Given the description of an element on the screen output the (x, y) to click on. 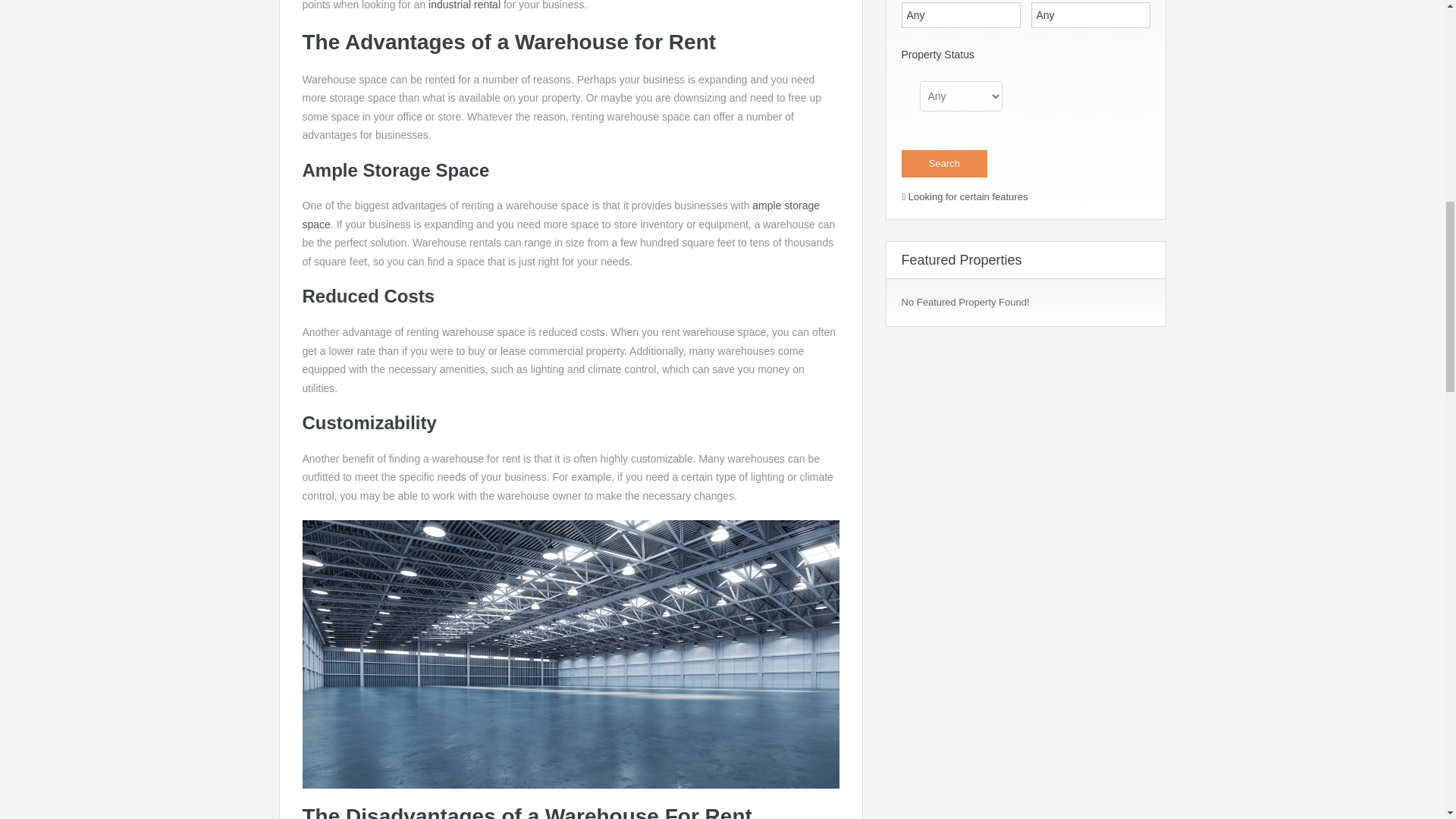
Only provide digits! (1090, 14)
Search (944, 163)
Only provide digits! (960, 14)
